Given the description of an element on the screen output the (x, y) to click on. 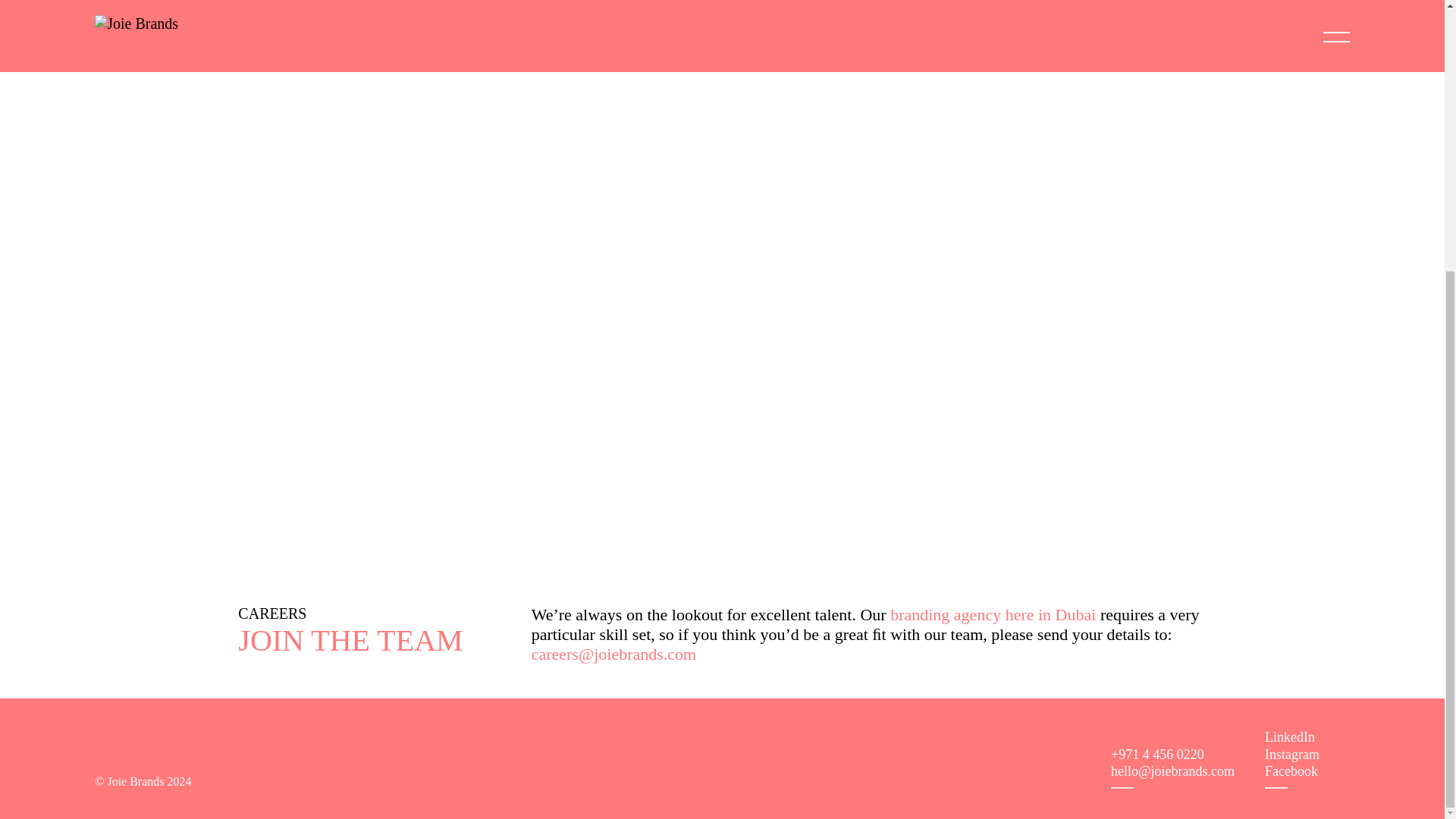
branding agency here in Dubai (992, 614)
Instagram (1292, 754)
LinkedIn (1289, 737)
Facebook (1291, 771)
